Given the description of an element on the screen output the (x, y) to click on. 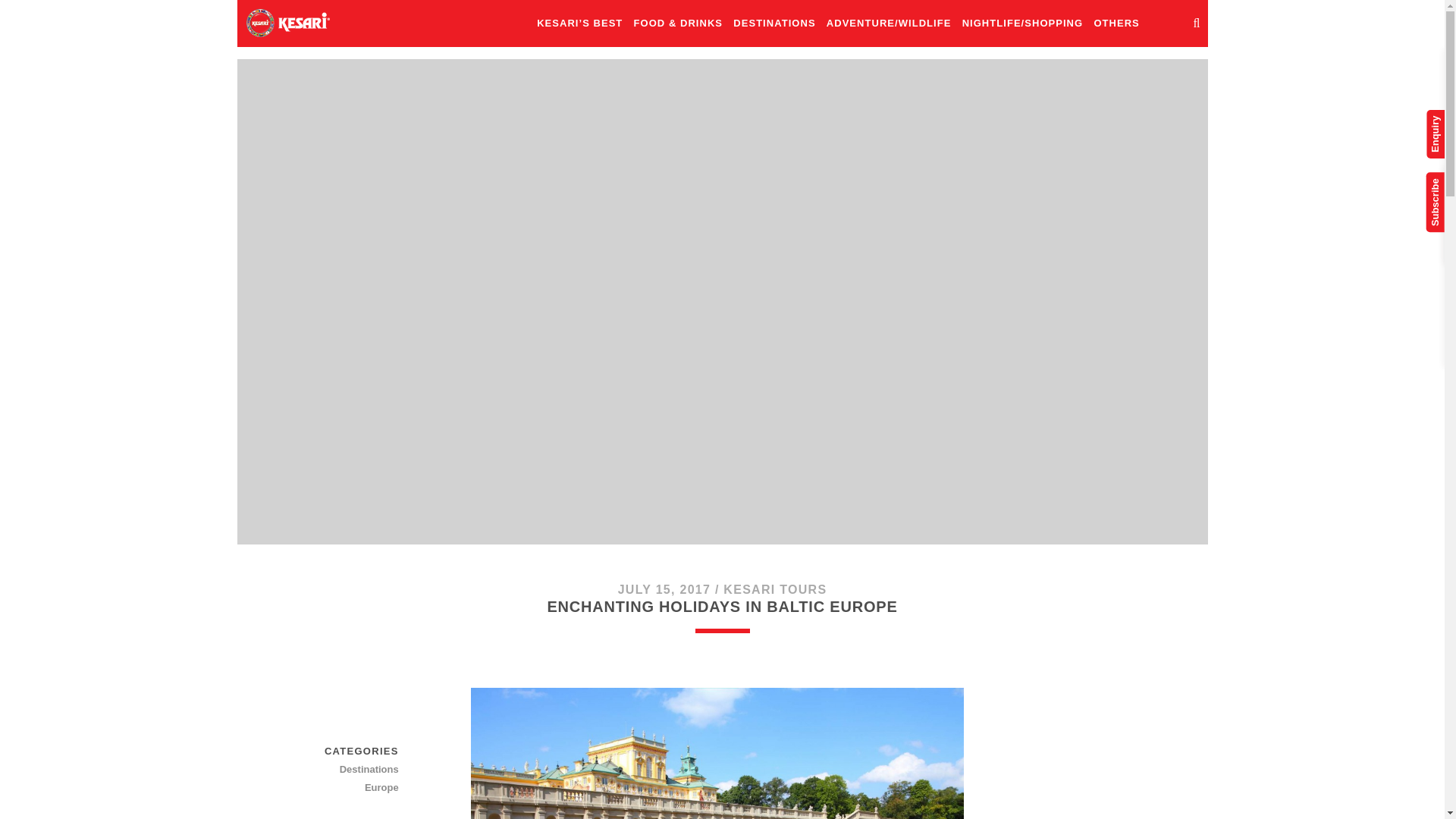
Posts by Kesari Tours (775, 589)
KESARI TOURS (775, 589)
View all posts in Europe (344, 787)
OTHERS (1115, 23)
Best Travel Blogs (287, 22)
View all posts in Destinations (344, 769)
Go (1416, 23)
DESTINATIONS (774, 23)
